Given the description of an element on the screen output the (x, y) to click on. 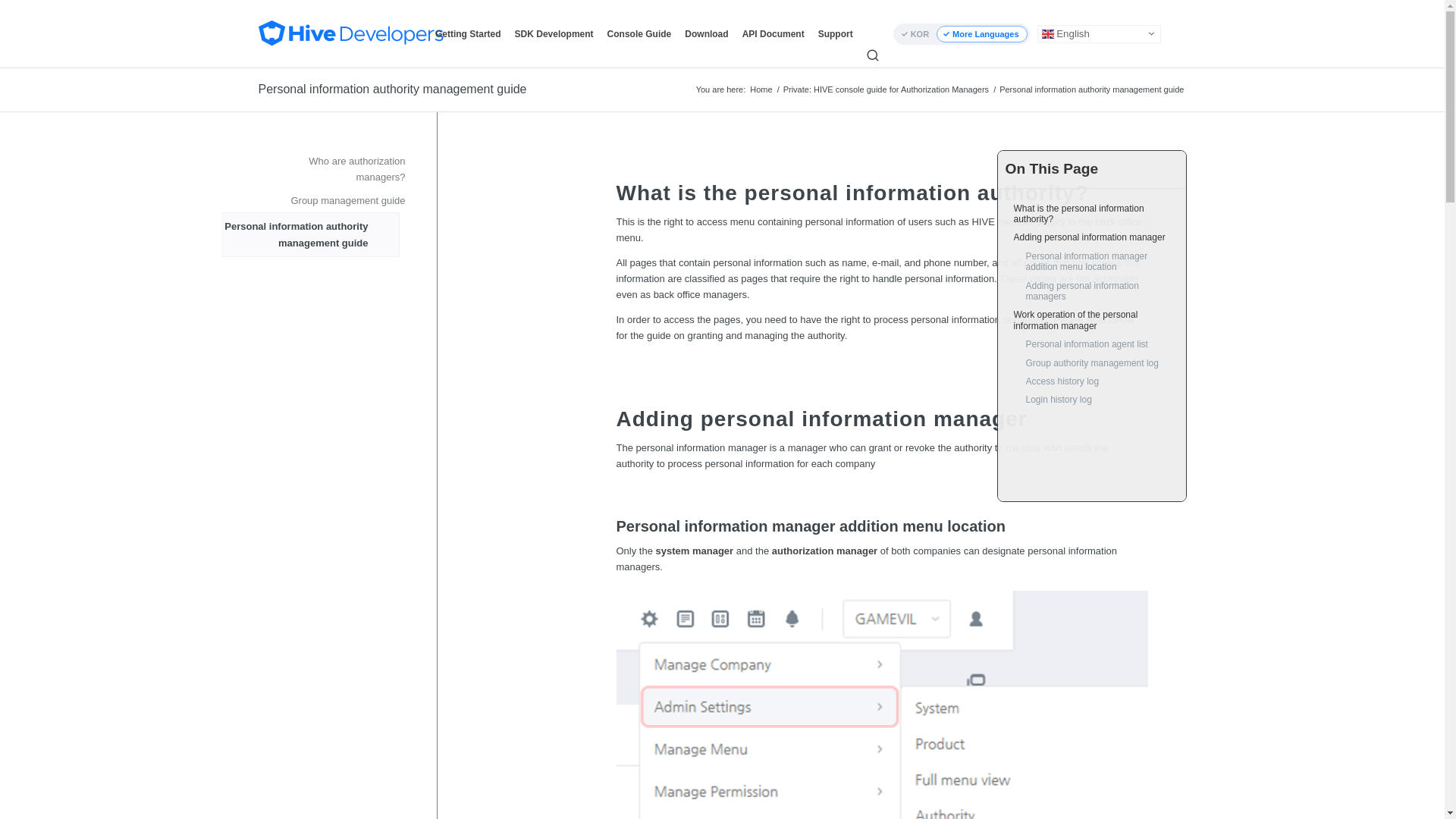
Hive Developers (761, 89)
Private: HIVE console guide for Authorization Managers (885, 89)
